Given the description of an element on the screen output the (x, y) to click on. 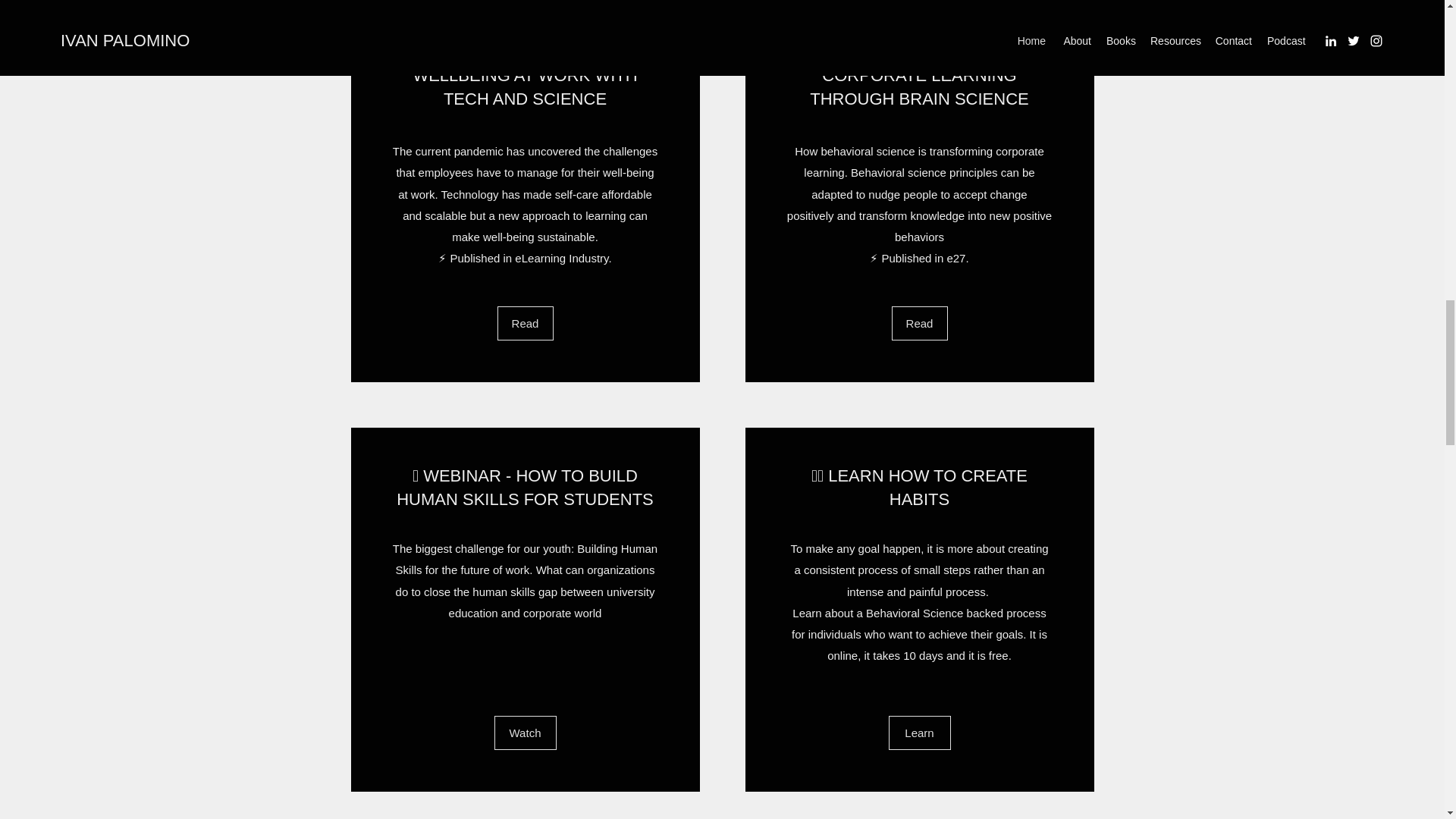
Watch (525, 732)
Read (919, 323)
Learn (919, 732)
Read (525, 323)
